Given the description of an element on the screen output the (x, y) to click on. 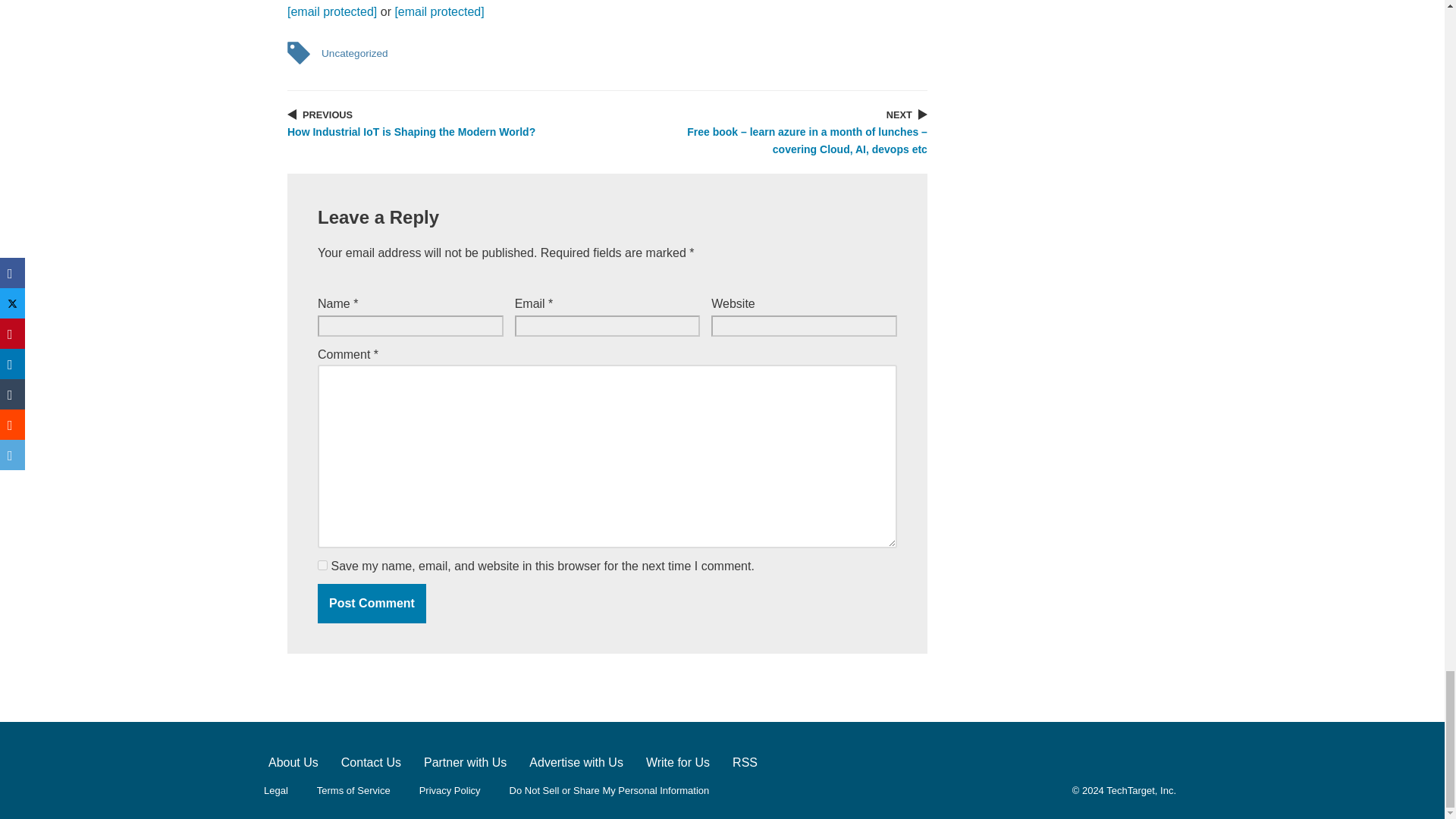
Post Comment (371, 603)
Uncategorized (354, 53)
yes (322, 565)
